Given the description of an element on the screen output the (x, y) to click on. 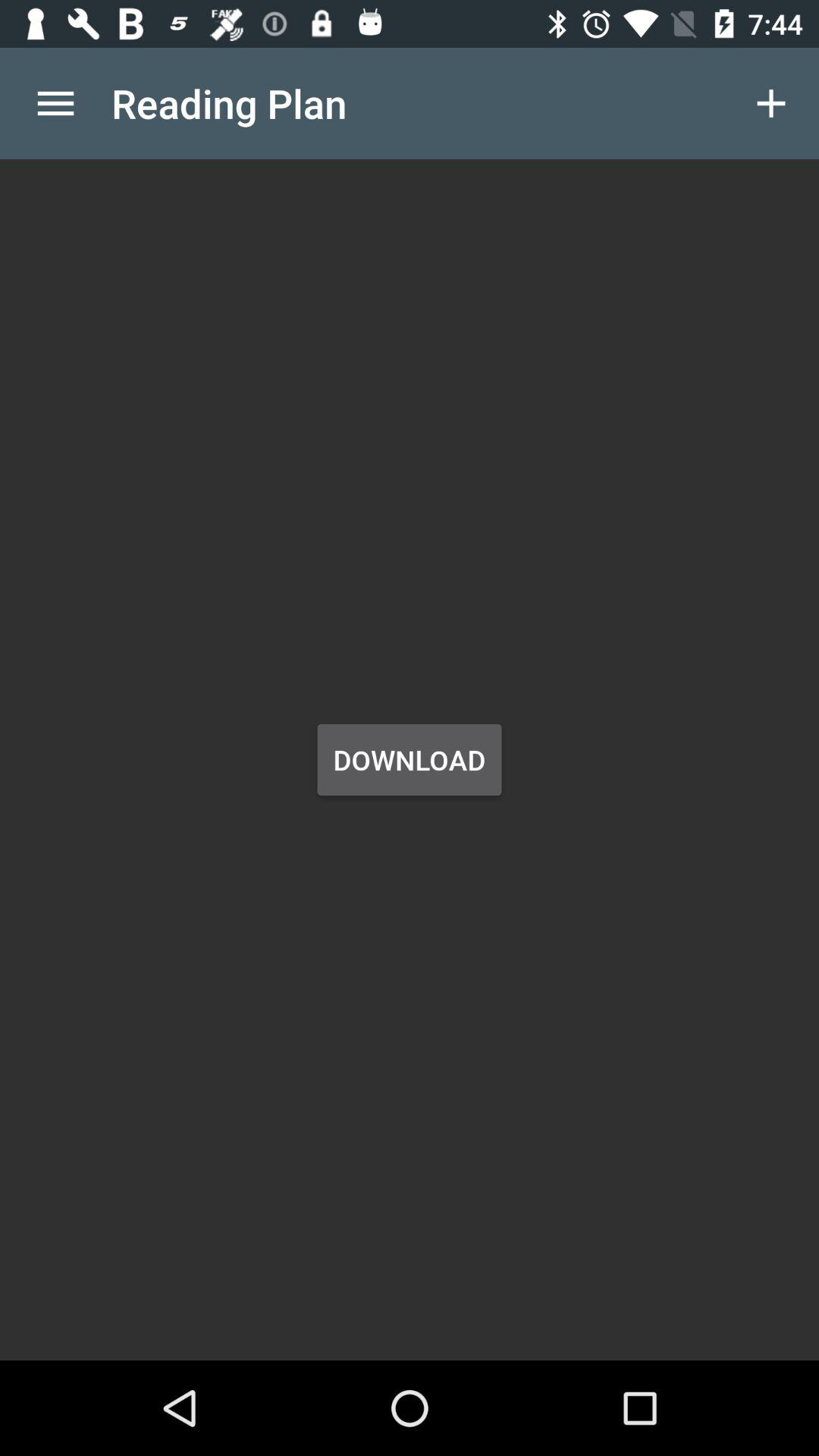
turn off the icon to the left of reading plan (55, 103)
